Given the description of an element on the screen output the (x, y) to click on. 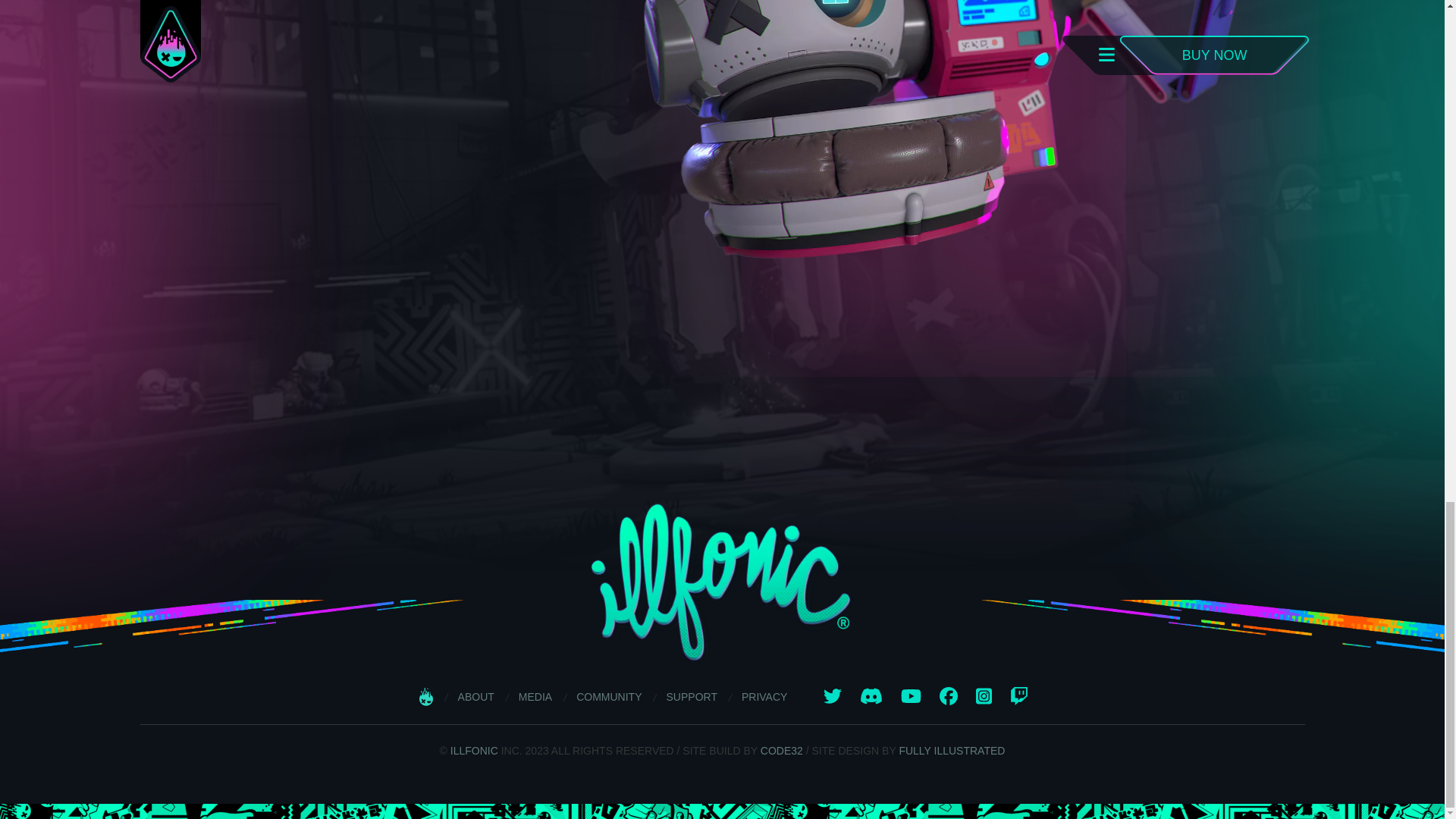
SUPPORT (691, 696)
ILLFONIC (474, 750)
Subscribe (123, 363)
Discord (871, 696)
ABOUT (475, 696)
CODE32 (781, 750)
COMMUNITY (608, 696)
Youtube (911, 696)
PRIVACY (764, 696)
FULLY ILLUSTRATED (951, 750)
MEDIA (535, 696)
